Given the description of an element on the screen output the (x, y) to click on. 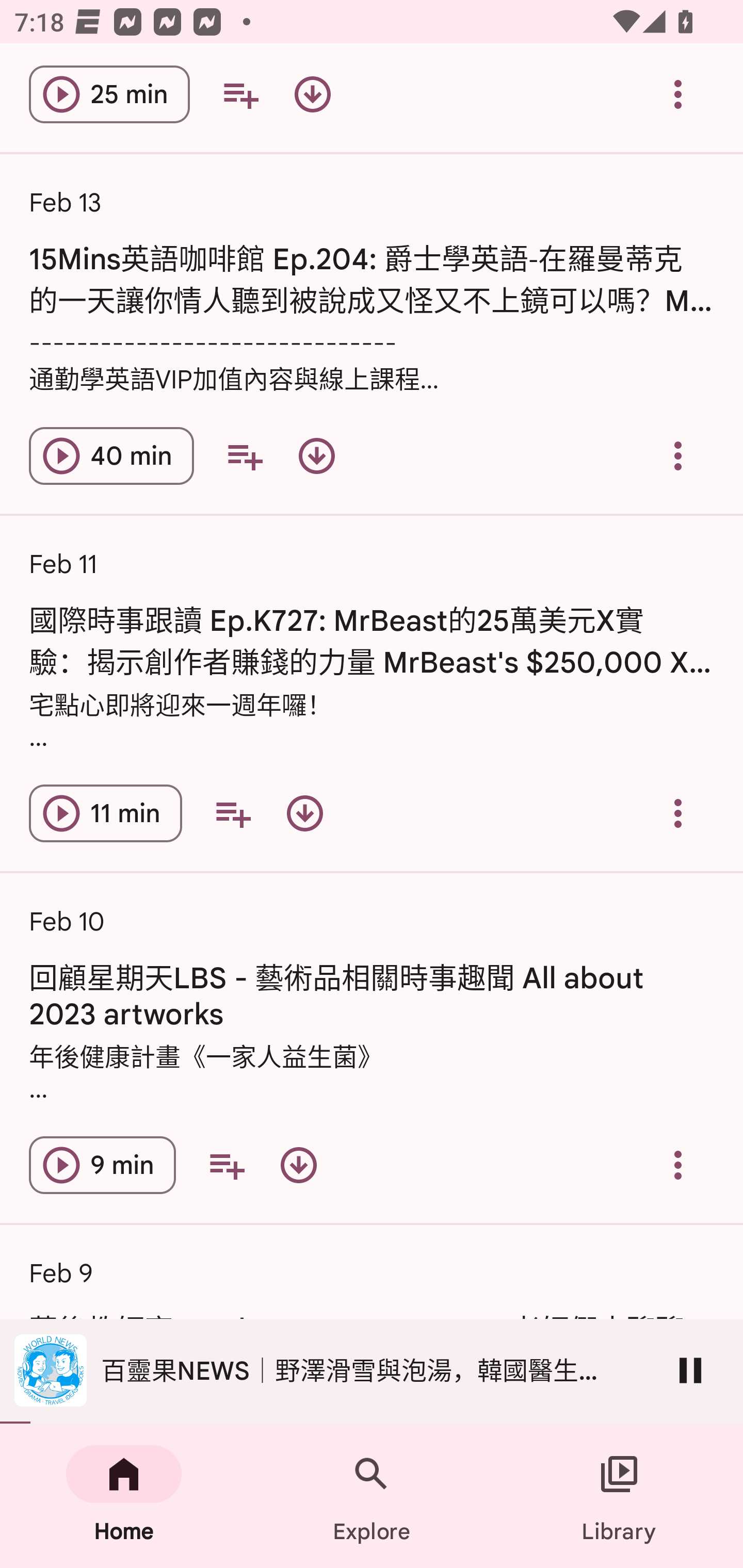
Add to your queue (240, 94)
Download episode (312, 94)
Overflow menu (677, 94)
Add to your queue (244, 455)
Download episode (316, 455)
Overflow menu (677, 455)
Add to your queue (232, 812)
Download episode (304, 812)
Overflow menu (677, 812)
Add to your queue (226, 1164)
Download episode (298, 1164)
Overflow menu (677, 1164)
Pause (690, 1370)
Explore (371, 1495)
Library (619, 1495)
